Given the description of an element on the screen output the (x, y) to click on. 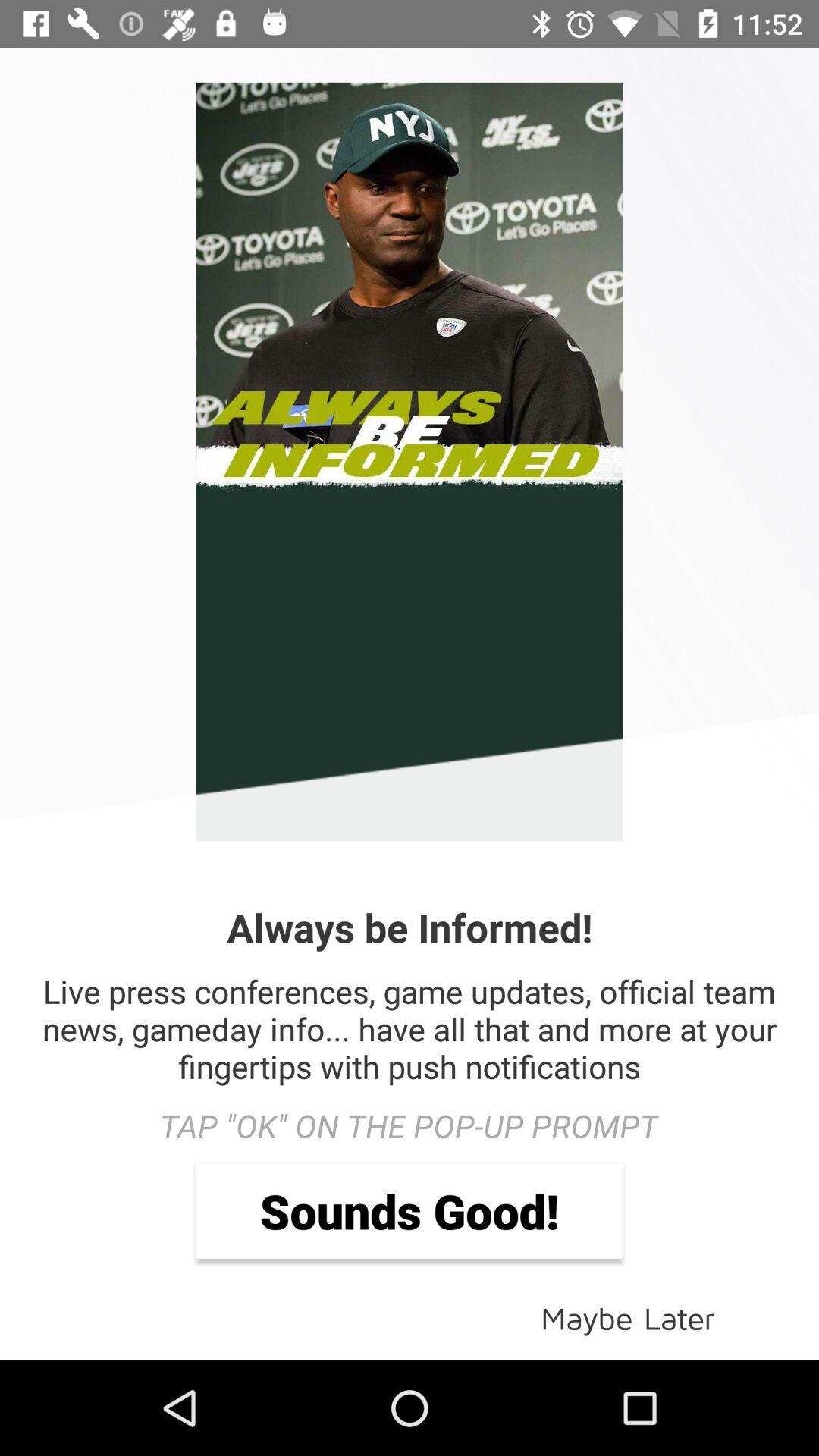
swipe to the maybe later (627, 1317)
